Given the description of an element on the screen output the (x, y) to click on. 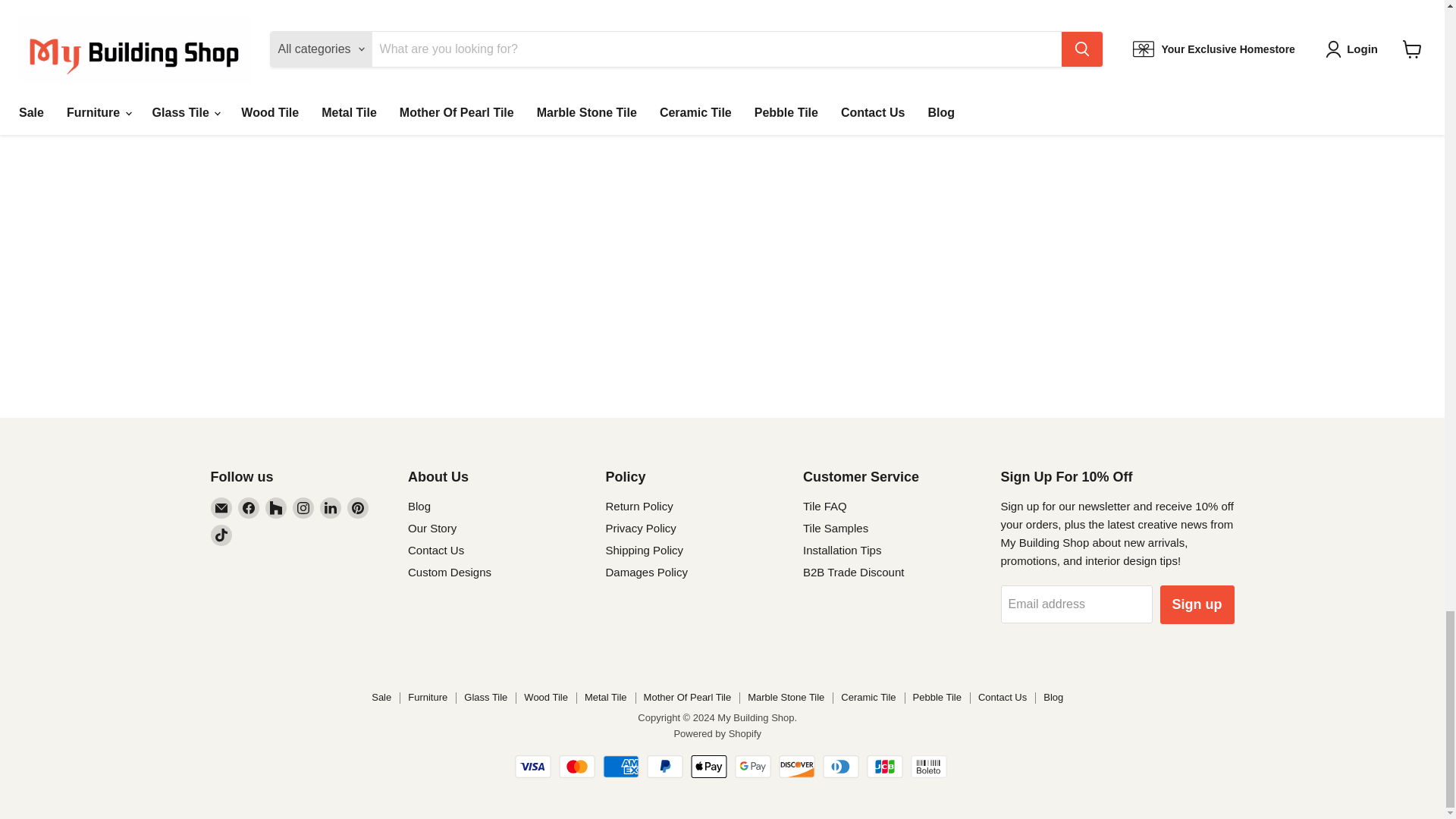
Houzz (275, 507)
American Express (620, 765)
LinkedIn (330, 507)
Visa (533, 765)
Apple Pay (708, 765)
Pinterest (357, 507)
Email (221, 507)
Mastercard (577, 765)
Facebook (248, 507)
Google Pay (753, 765)
Instagram (303, 507)
PayPal (664, 765)
TikTok (221, 535)
